Given the description of an element on the screen output the (x, y) to click on. 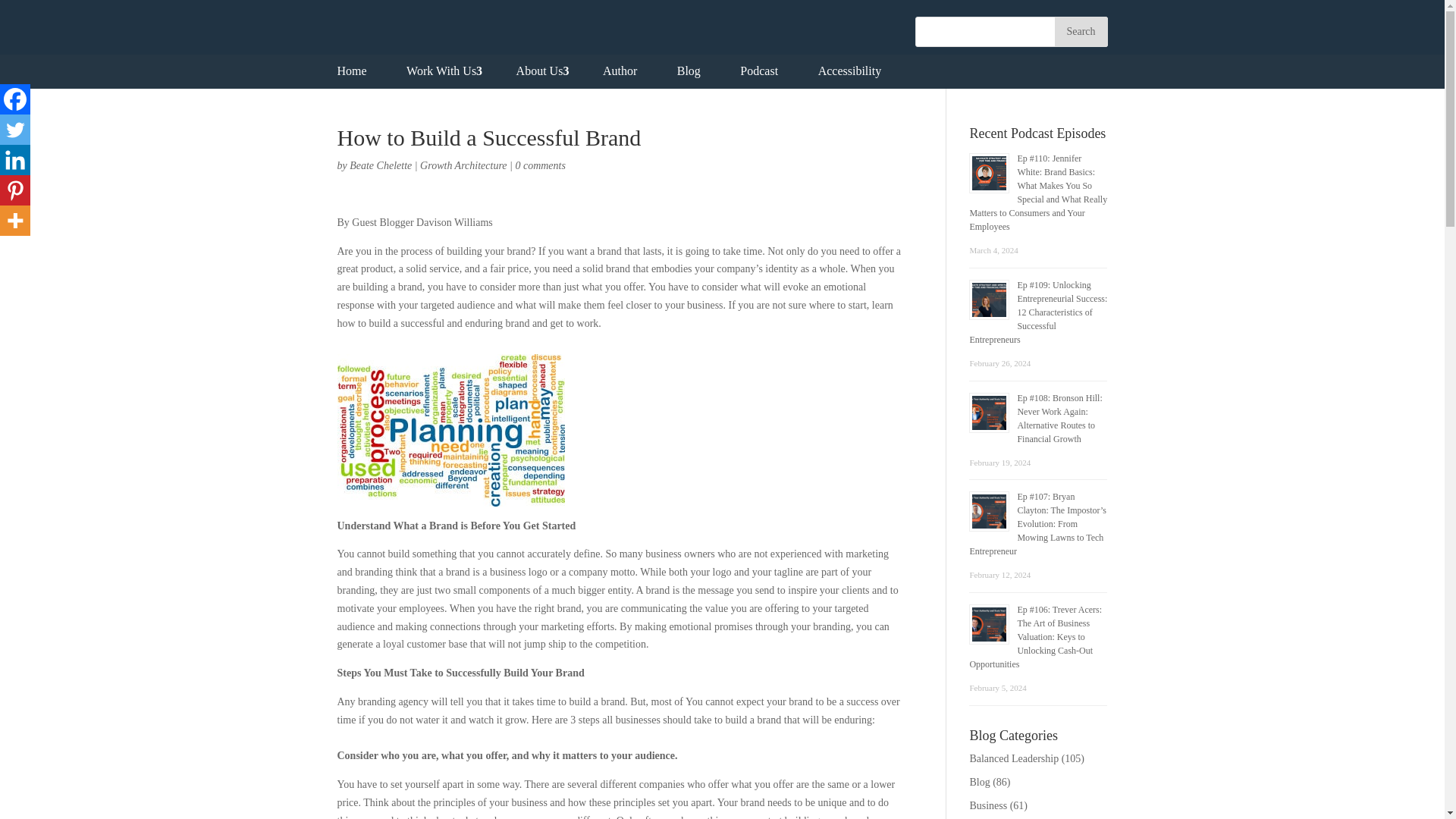
Facebook (15, 99)
More (15, 220)
Pinterest (15, 190)
Linkedin (15, 159)
Search (1080, 31)
Posts by Beate Chelette (380, 165)
Search (1080, 31)
Twitter (15, 129)
